Given the description of an element on the screen output the (x, y) to click on. 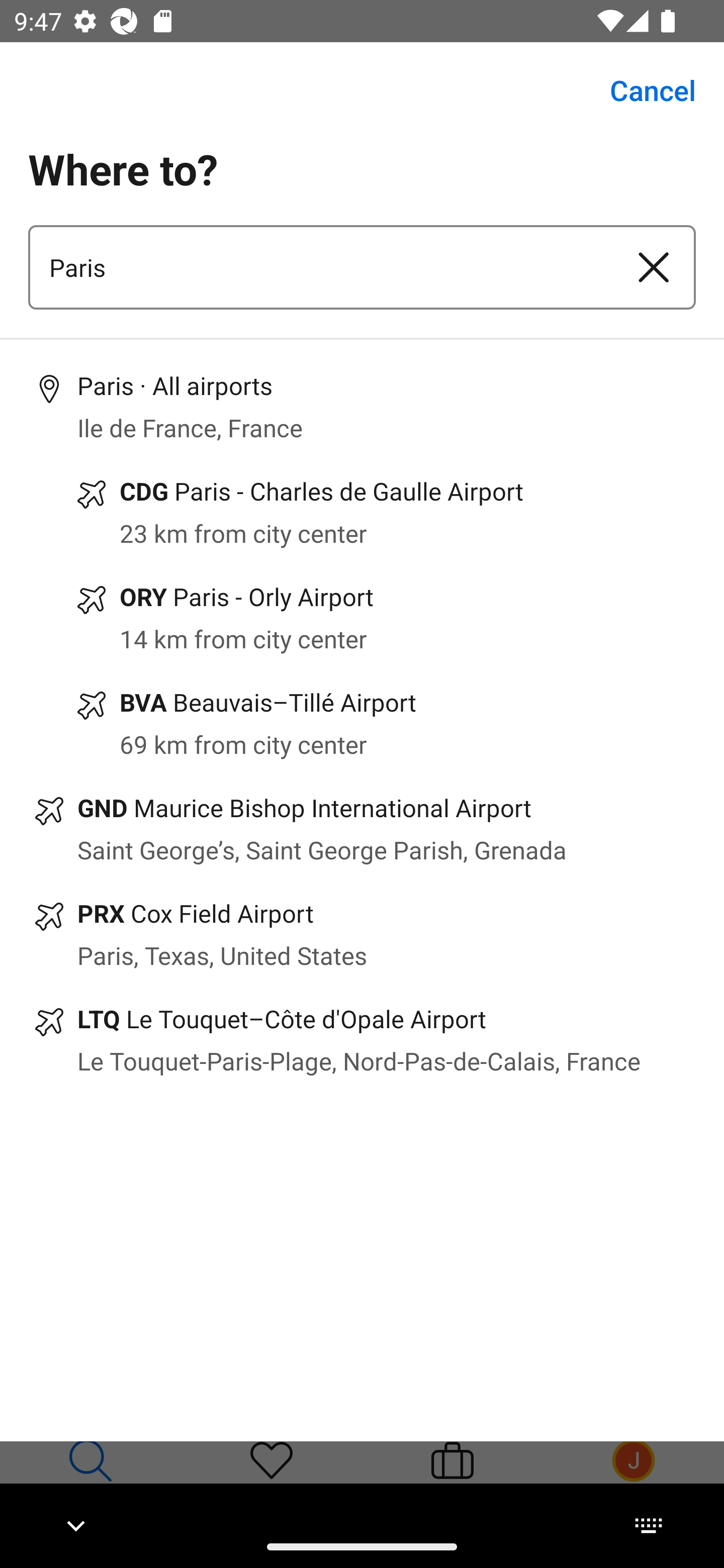
Cancel (641, 90)
Paris (319, 266)
Clear airport or city (653, 266)
Paris · All airports Ile de France, France (362, 406)
ORY Paris - Orly Airport 14 km from city center (362, 617)
BVA Beauvais–Tillé Airport 69 km from city center (362, 723)
PRX Cox Field Airport Paris, Texas, United States (362, 934)
